Given the description of an element on the screen output the (x, y) to click on. 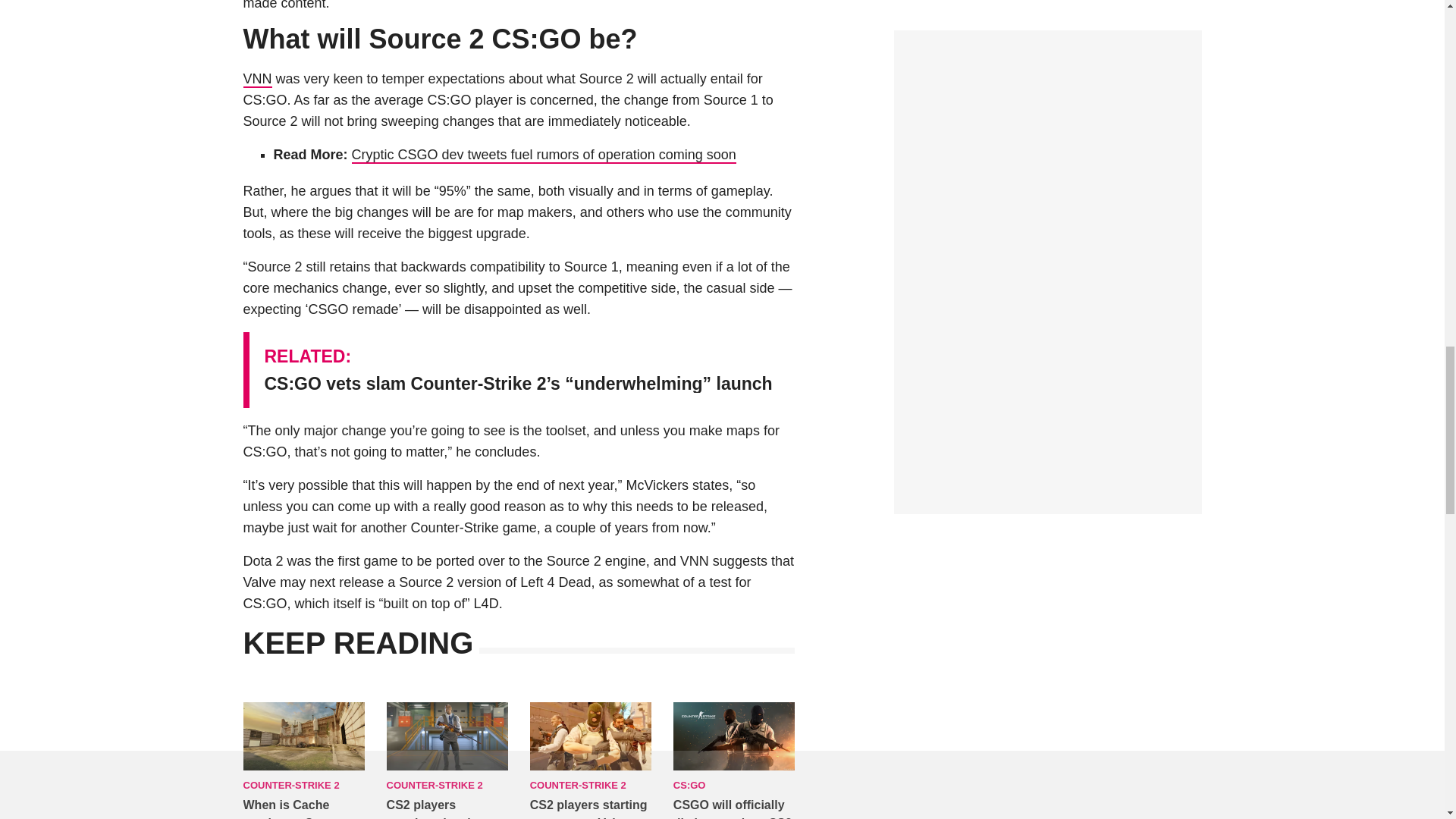
VNN (256, 79)
COUNTER-STRIKE 2 (291, 785)
Cryptic CSGO dev tweets fuel rumors of operation coming soon (544, 155)
